Given the description of an element on the screen output the (x, y) to click on. 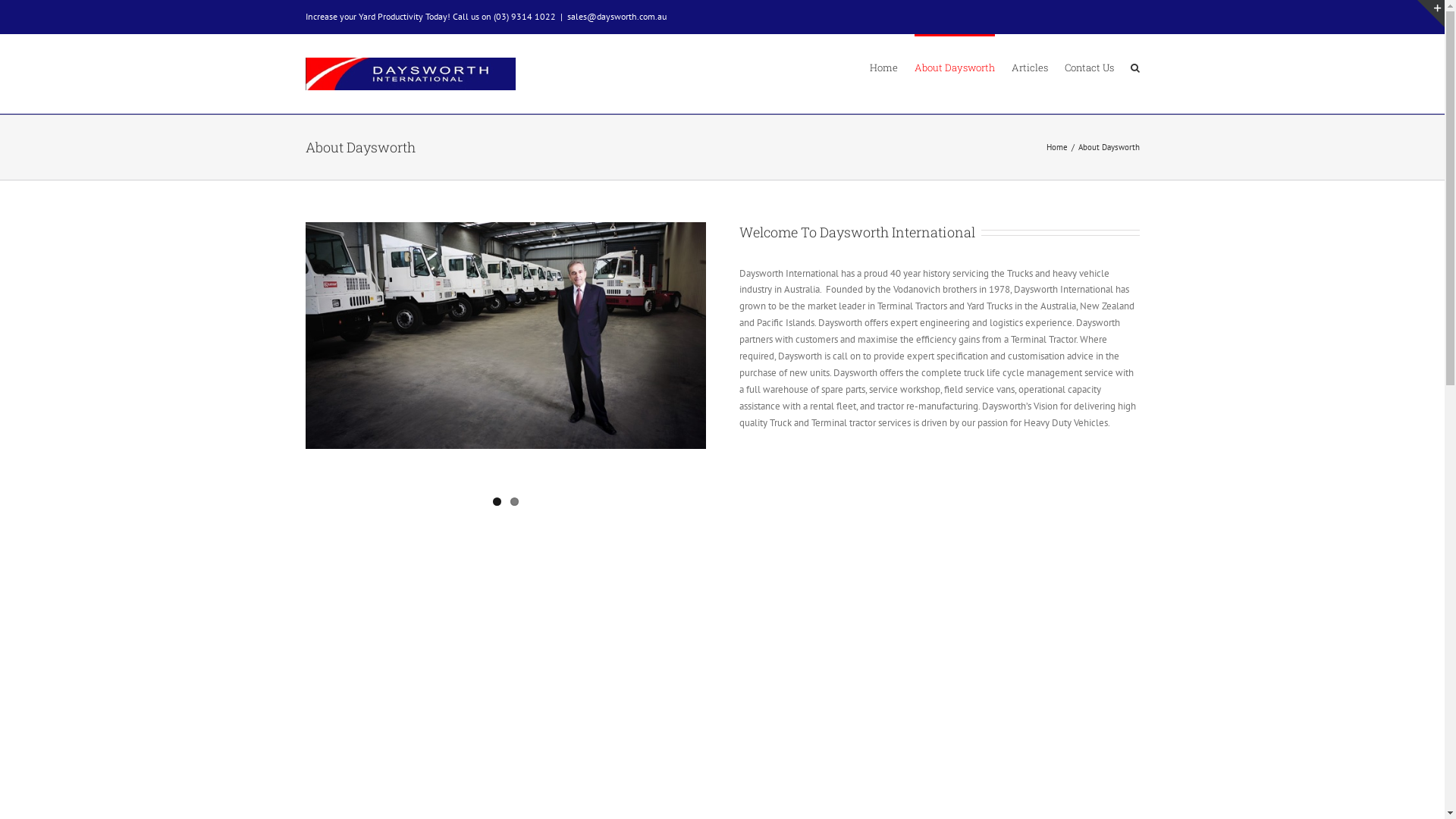
About Daysworth Element type: text (954, 66)
sales@daysworth.com.au Element type: text (616, 15)
Home Element type: text (883, 66)
Toggle Sliding Bar Area Element type: text (1430, 13)
Articles Element type: text (1029, 66)
Home Element type: text (1056, 146)
Contact Us Element type: text (1088, 66)
2 Element type: text (513, 501)
1 Element type: text (496, 501)
Search Element type: hover (1134, 66)
